Given the description of an element on the screen output the (x, y) to click on. 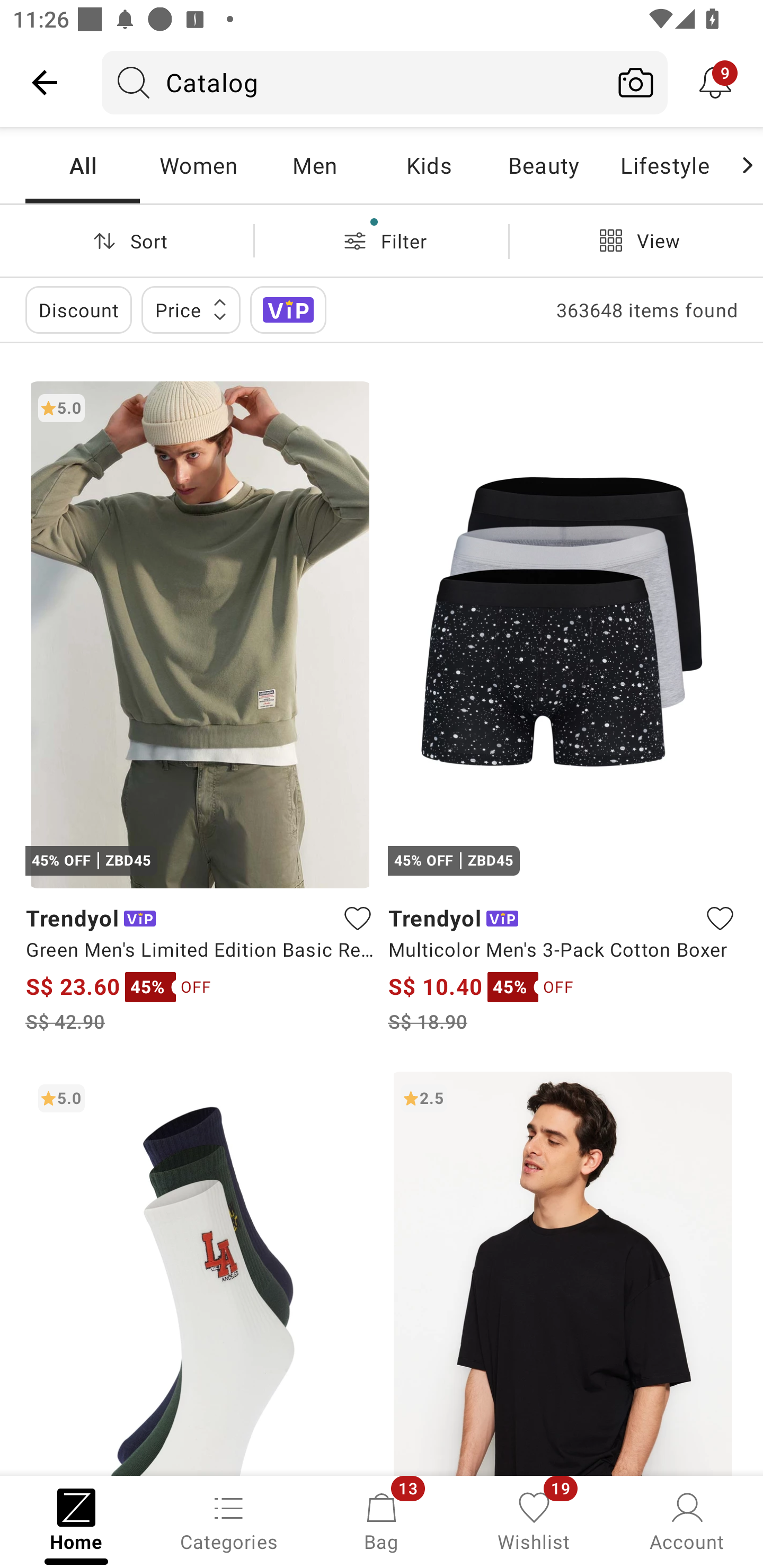
Navigate up (44, 82)
Catalog (352, 82)
Women (198, 165)
Men (314, 165)
Kids (428, 165)
Beauty (543, 165)
Lifestyle (664, 165)
Sort (126, 240)
Filter (381, 240)
View (636, 240)
Discount (78, 309)
Price (190, 309)
5.0 (200, 1272)
2.5 (562, 1272)
Categories (228, 1519)
Bag, 13 new notifications Bag (381, 1519)
Wishlist, 19 new notifications Wishlist (533, 1519)
Account (686, 1519)
